Given the description of an element on the screen output the (x, y) to click on. 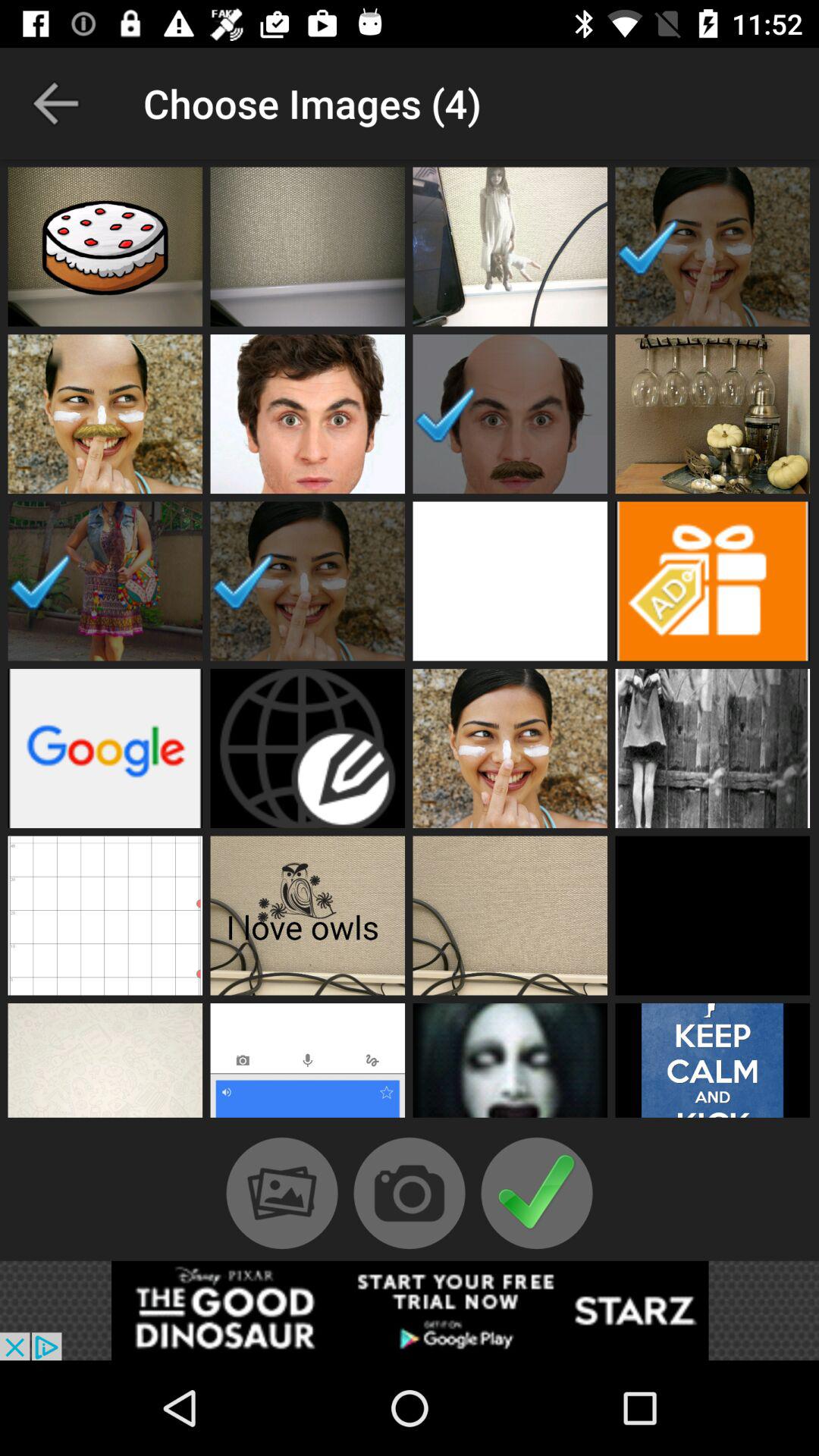
choose image (104, 246)
